Given the description of an element on the screen output the (x, y) to click on. 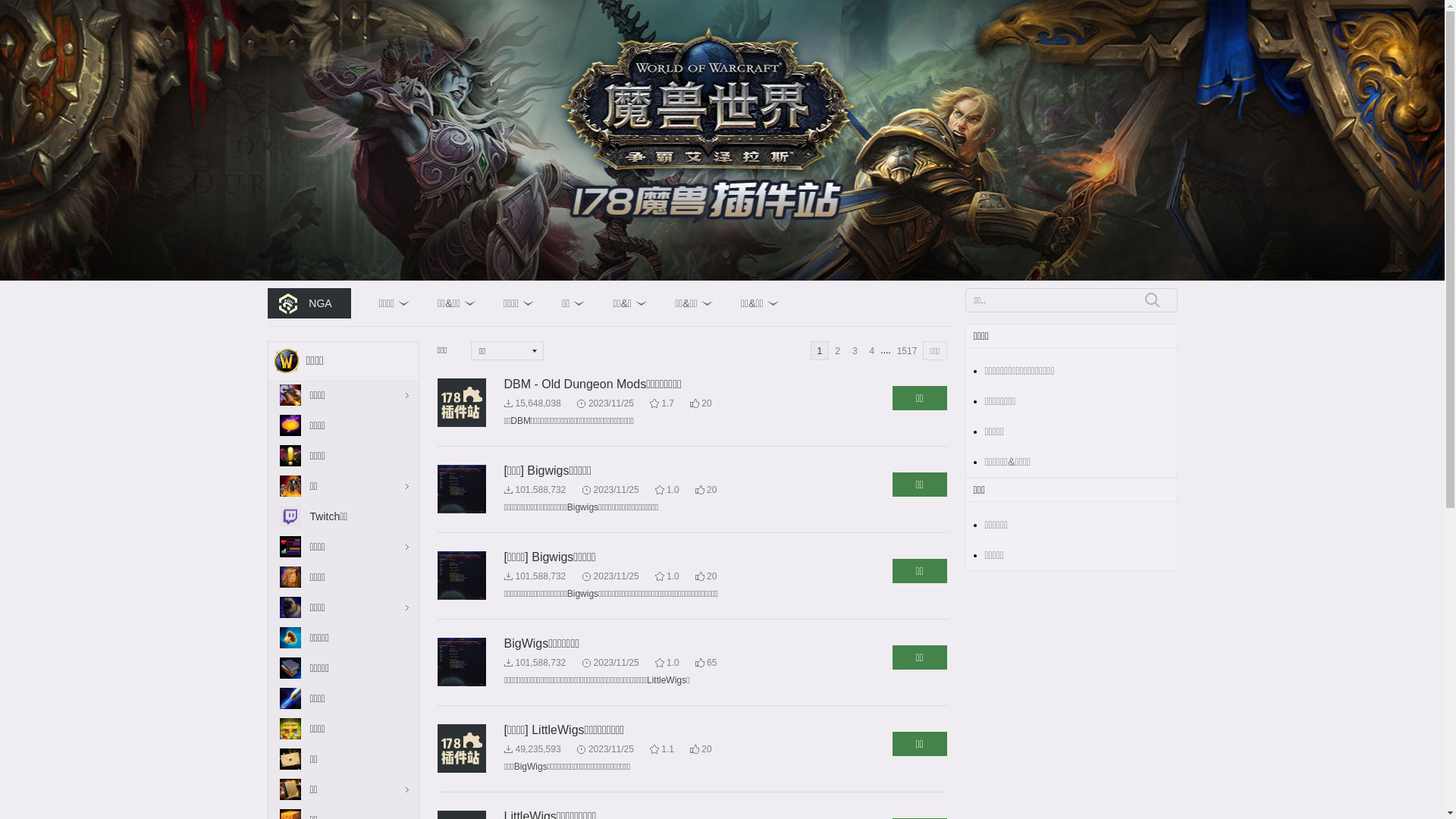
4 Element type: text (872, 350)
1517 Element type: text (907, 350)
1 Element type: text (819, 350)
2 Element type: text (837, 350)
3 Element type: text (854, 350)
NGA Element type: text (308, 303)
